Given the description of an element on the screen output the (x, y) to click on. 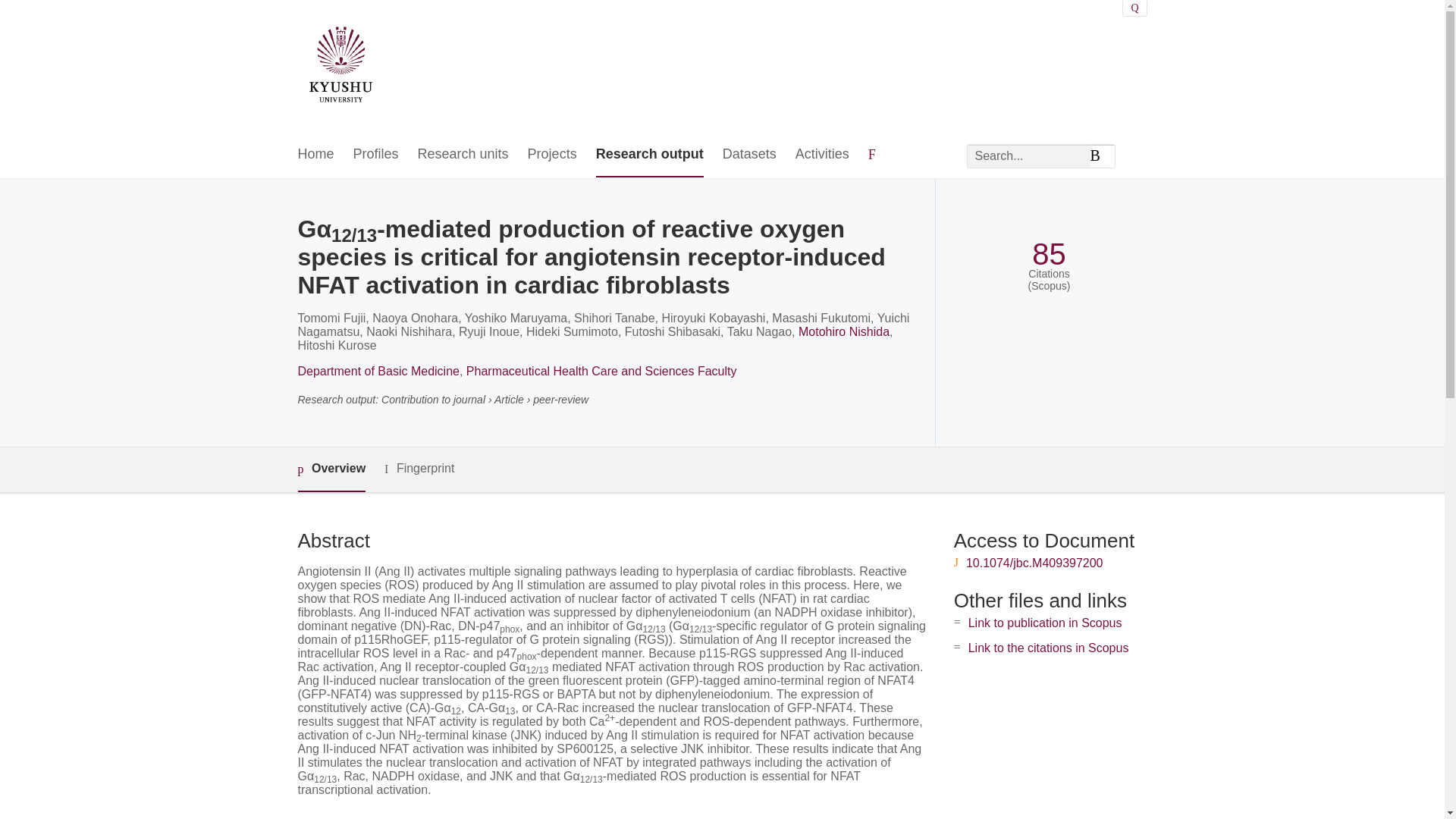
Profiles (375, 154)
Home (315, 154)
Kyushu University Home (340, 66)
85 (1048, 253)
Activities (821, 154)
Datasets (749, 154)
Research output (649, 154)
Pharmaceutical Health Care and Sciences Faculty (600, 370)
Link to the citations in Scopus (1048, 647)
Research units (462, 154)
Projects (551, 154)
Overview (331, 469)
Department of Basic Medicine (377, 370)
Motohiro Nishida (843, 331)
